Given the description of an element on the screen output the (x, y) to click on. 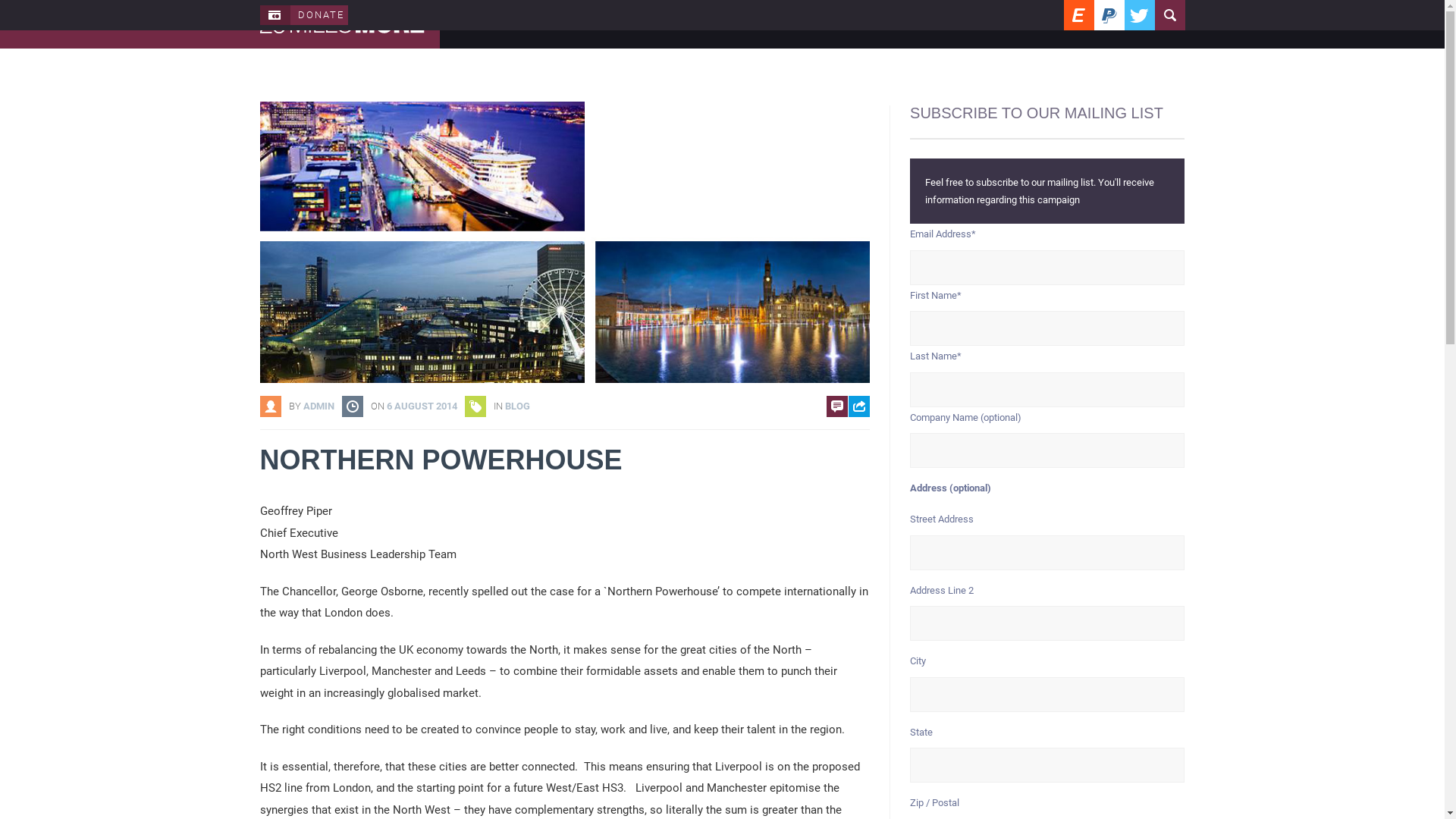
REPORT Element type: text (783, 24)
ADMIN Element type: text (318, 405)
NEWS Element type: text (676, 24)
DONATE Element type: text (1101, 24)
CONTACT Element type: text (1033, 24)
paypal Element type: text (1108, 15)
NORTHERN POWERHOUSE Element type: text (564, 459)
eventbrite Element type: text (1078, 15)
HOME Element type: text (623, 24)
BLOG Element type: text (517, 405)
SUPPORT Element type: text (961, 24)
DONATE Element type: text (303, 15)
BLOG Element type: text (1159, 24)
FAQS Element type: text (728, 24)
twitter Element type: text (1138, 15)
KEY DOCUMENTS Element type: text (871, 24)
